Given the description of an element on the screen output the (x, y) to click on. 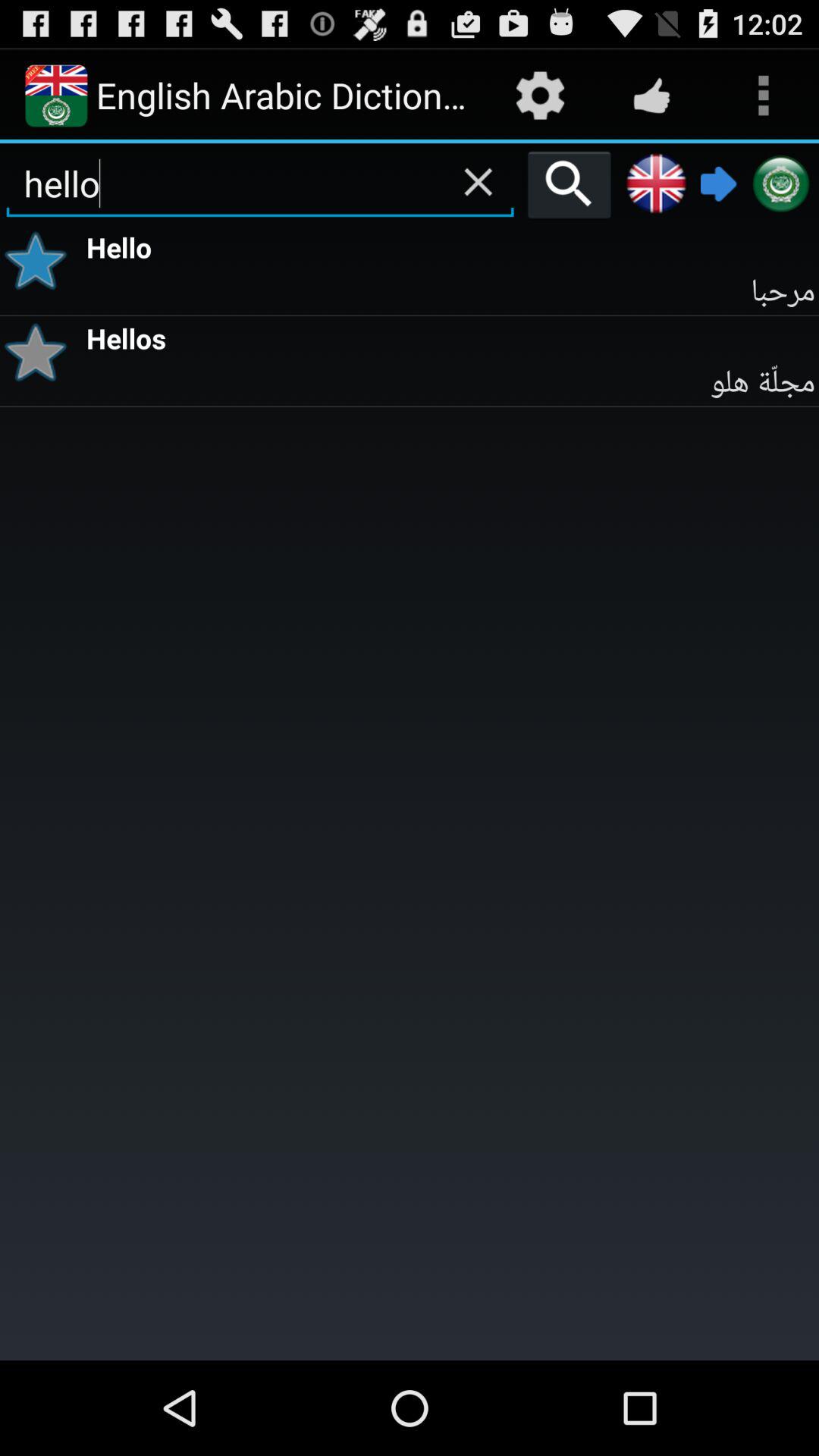
delete input (478, 181)
